Given the description of an element on the screen output the (x, y) to click on. 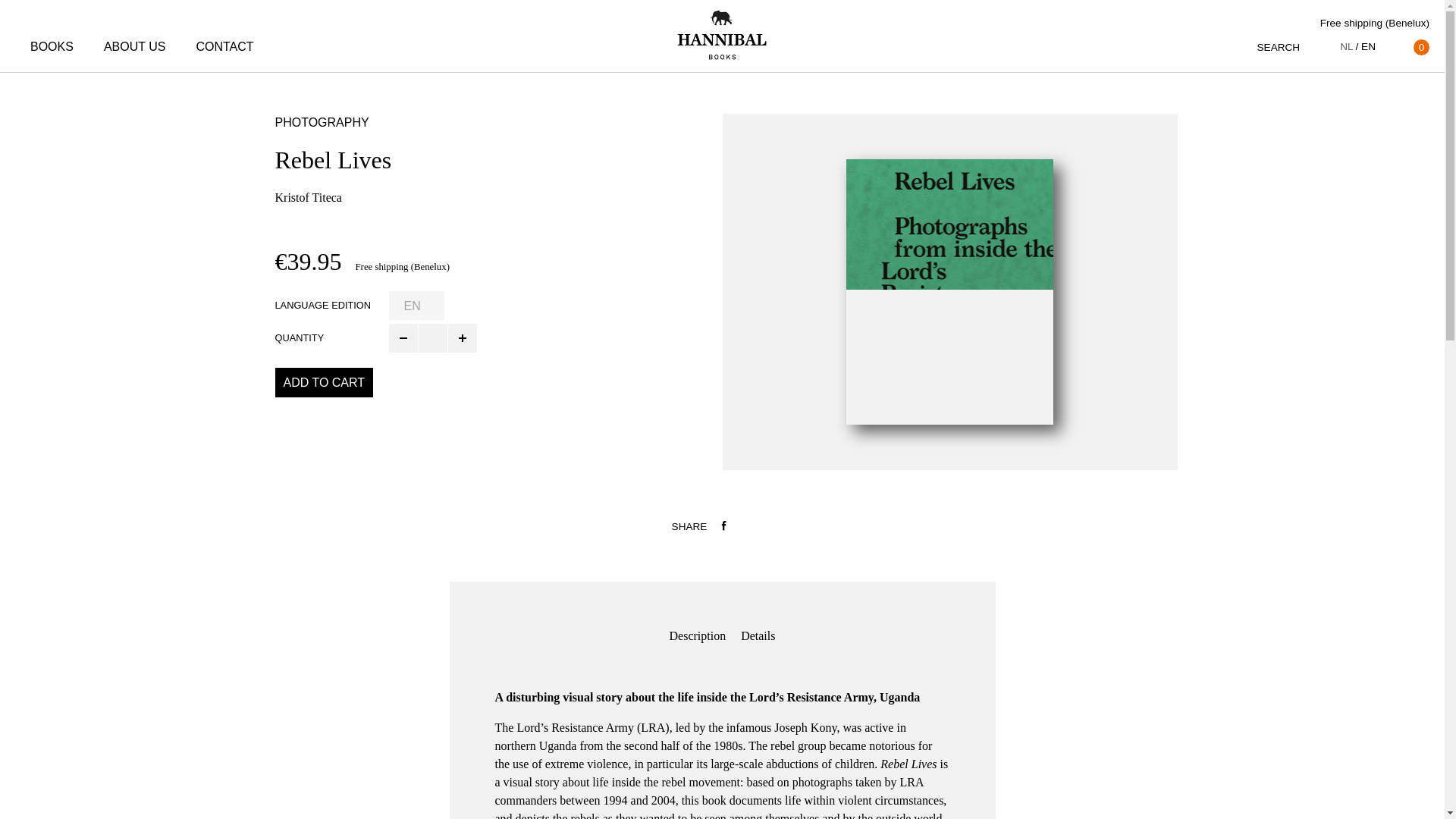
BOOKS (52, 46)
PHOTOGRAPHY (321, 122)
CONTACT (224, 46)
Add to cart (323, 381)
ABOUT US (134, 46)
Add to cart (323, 381)
EN (1365, 46)
0 (1409, 47)
Kristof Titeca (307, 196)
